Given the description of an element on the screen output the (x, y) to click on. 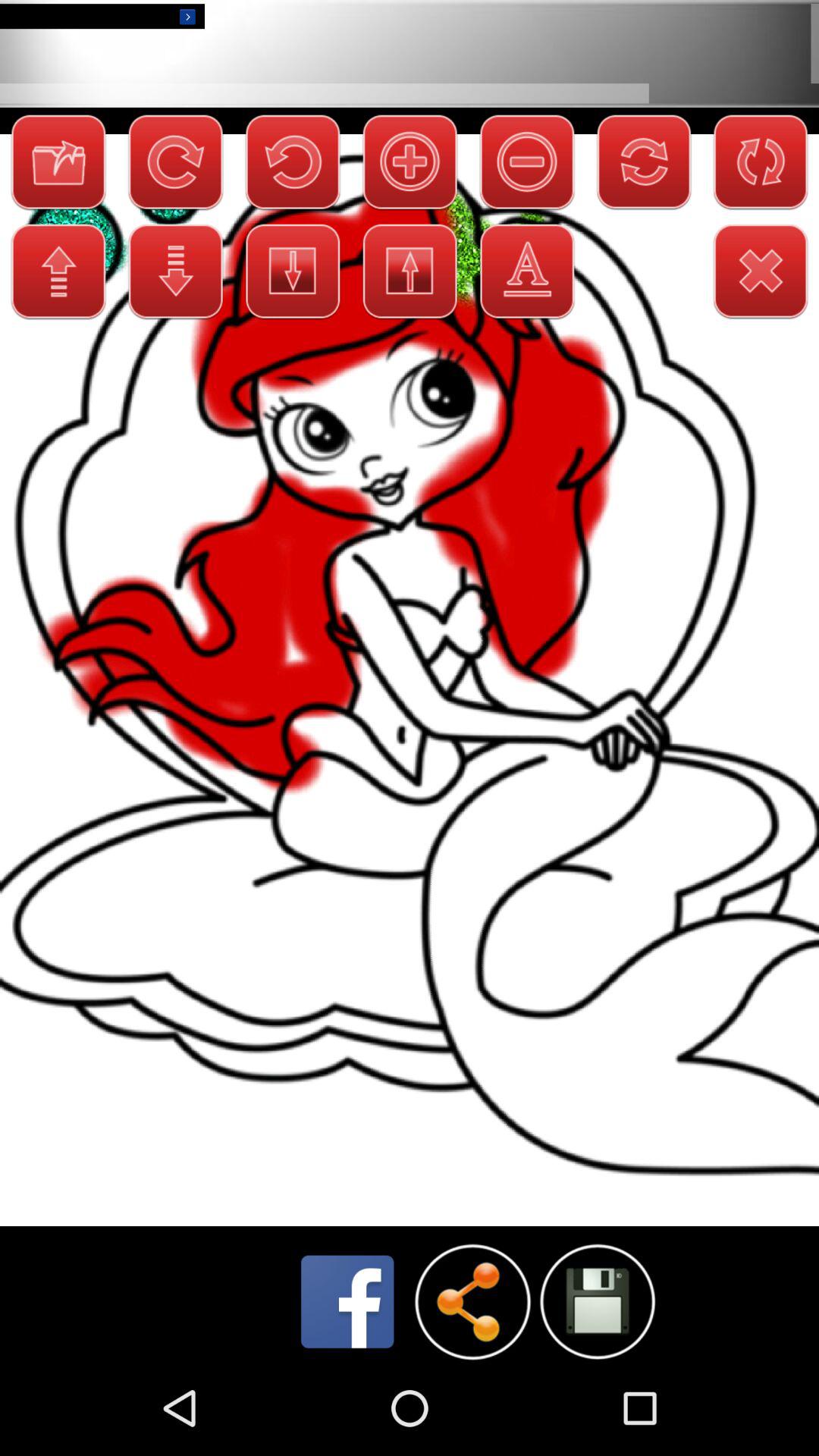
post to facebook (347, 1301)
